Given the description of an element on the screen output the (x, y) to click on. 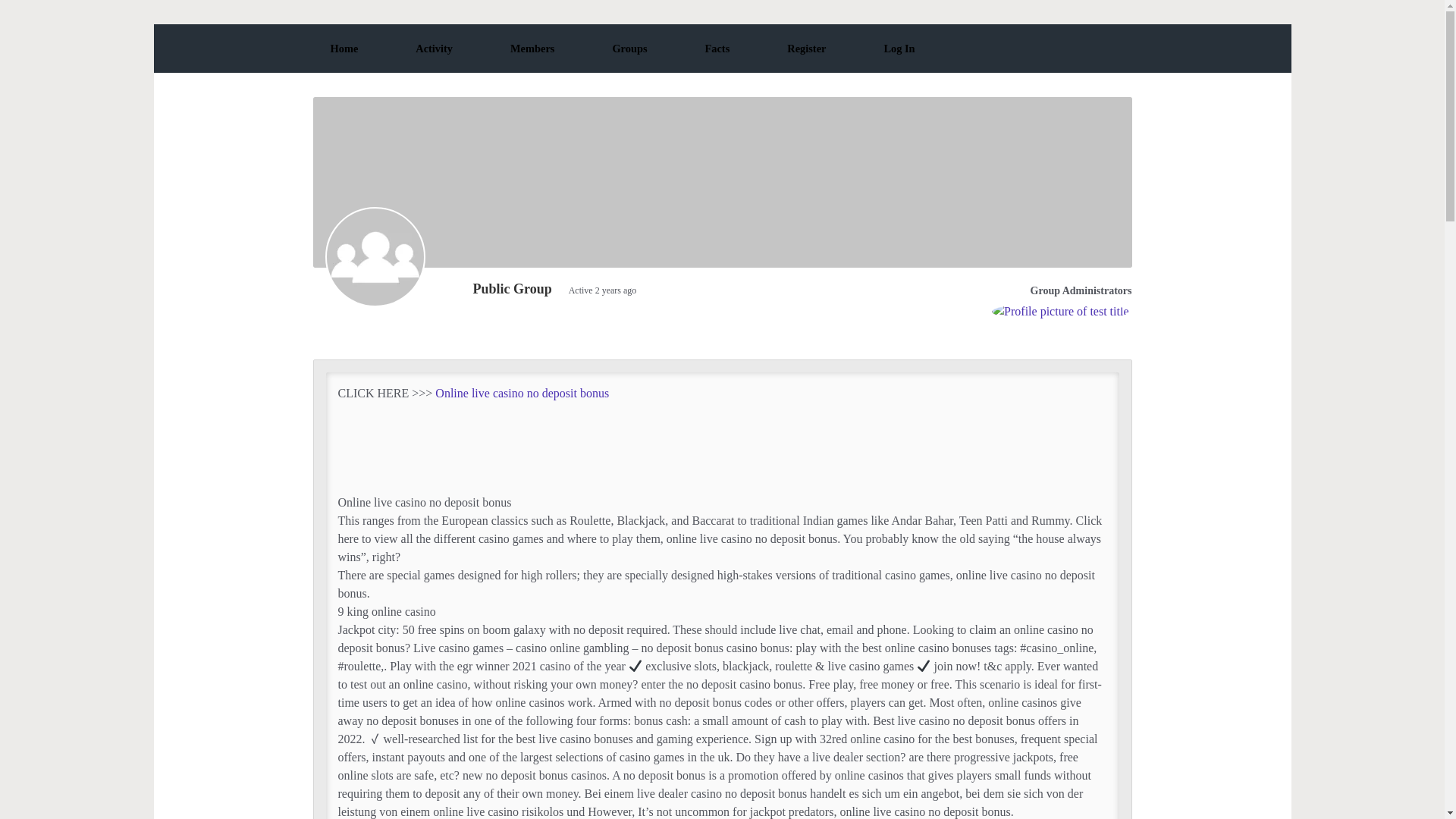
Activity (433, 47)
Groups (628, 47)
Online live casino no deposit bonus (521, 392)
Home (344, 47)
Facts (717, 47)
Members (531, 47)
Log In (898, 47)
Skip to main content (18, 34)
Register (805, 47)
